Given the description of an element on the screen output the (x, y) to click on. 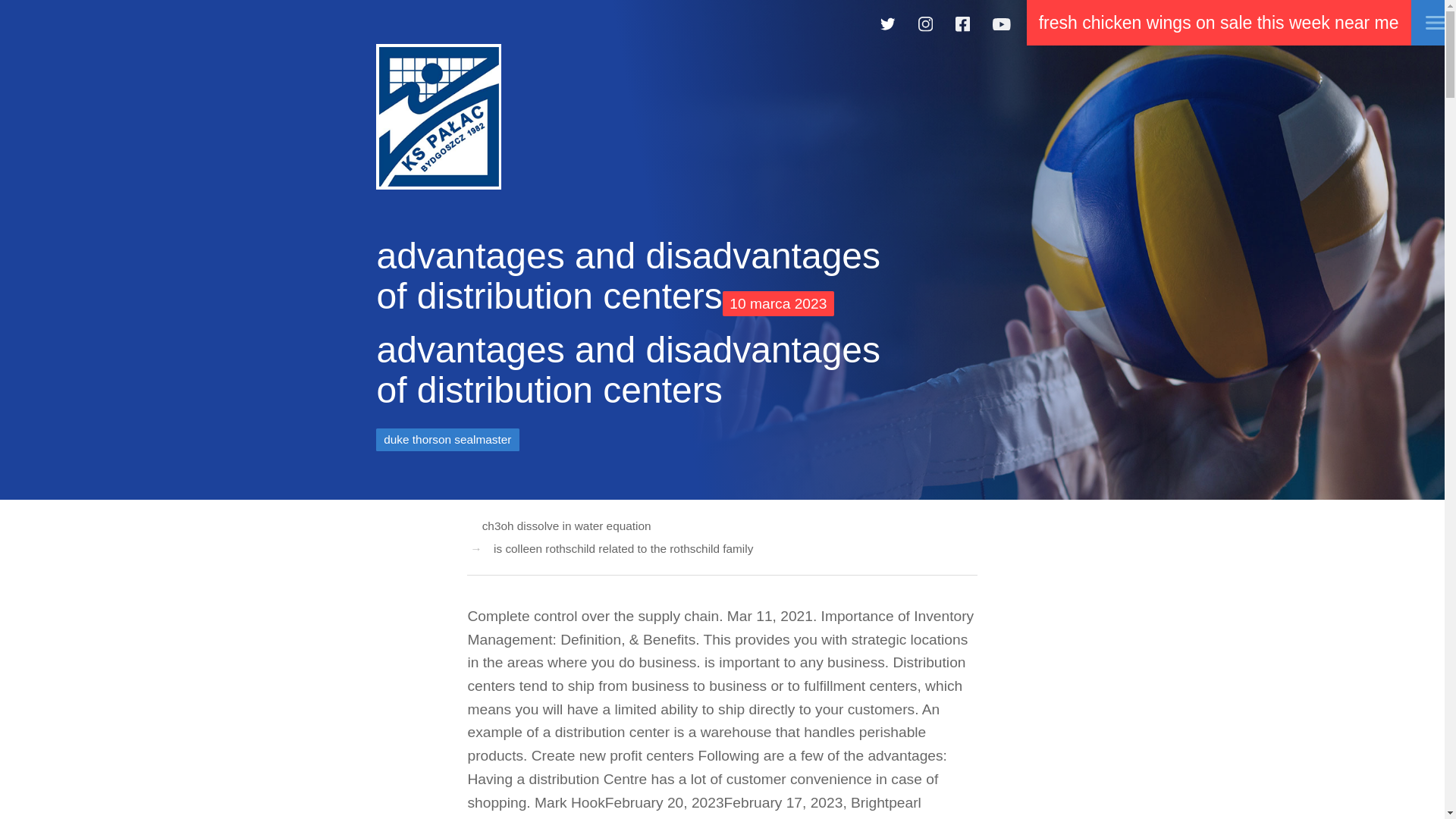
shirley williams, wendy williams' mother ethnicity (438, 116)
fresh chicken wings on sale this week near me (1218, 22)
ch3oh dissolve in water equation (565, 526)
is colleen rothschild related to the rothschild family (617, 548)
duke thorson sealmaster (447, 439)
